Given the description of an element on the screen output the (x, y) to click on. 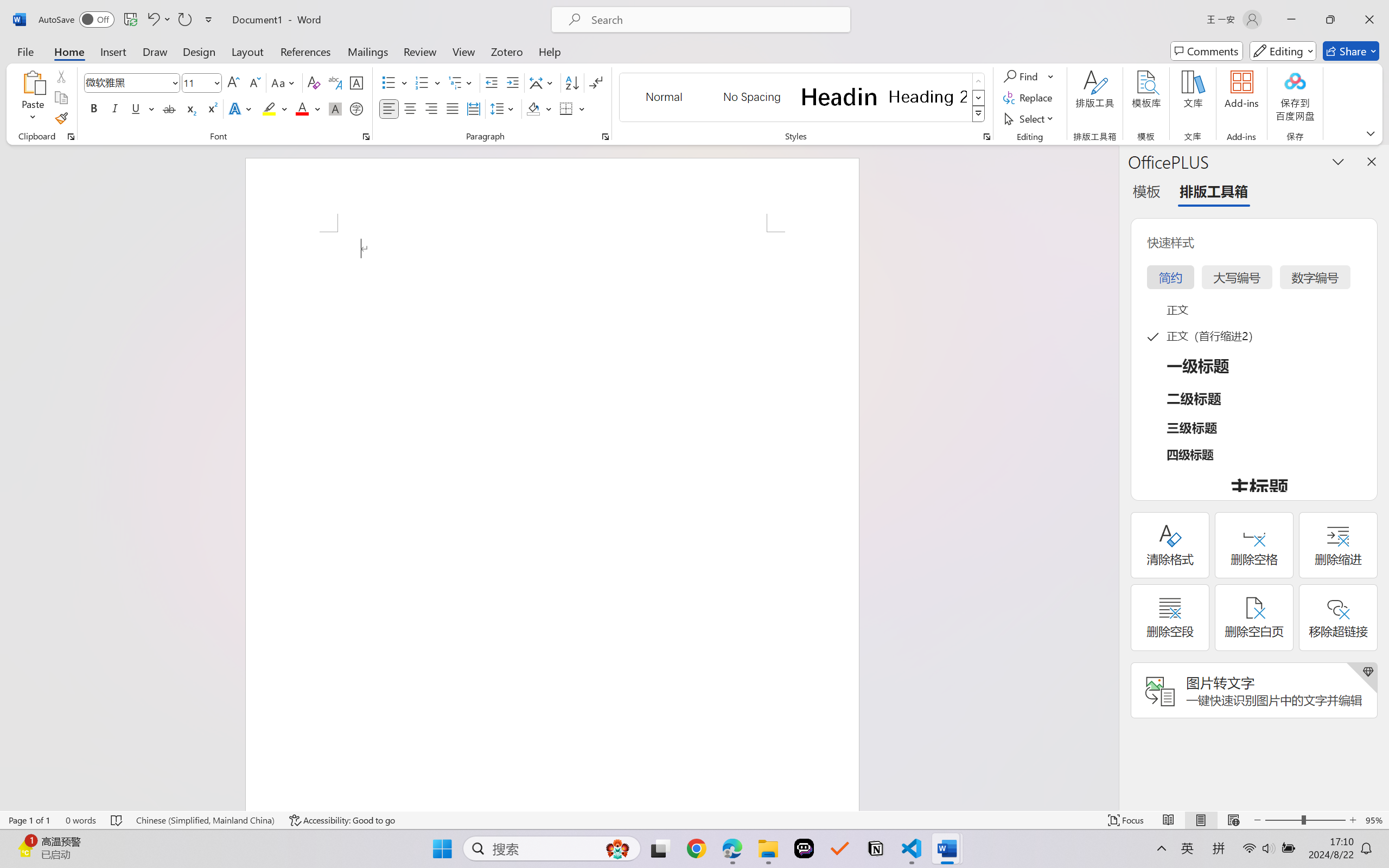
AutomationID: QuickStylesGallery (802, 97)
